Given the description of an element on the screen output the (x, y) to click on. 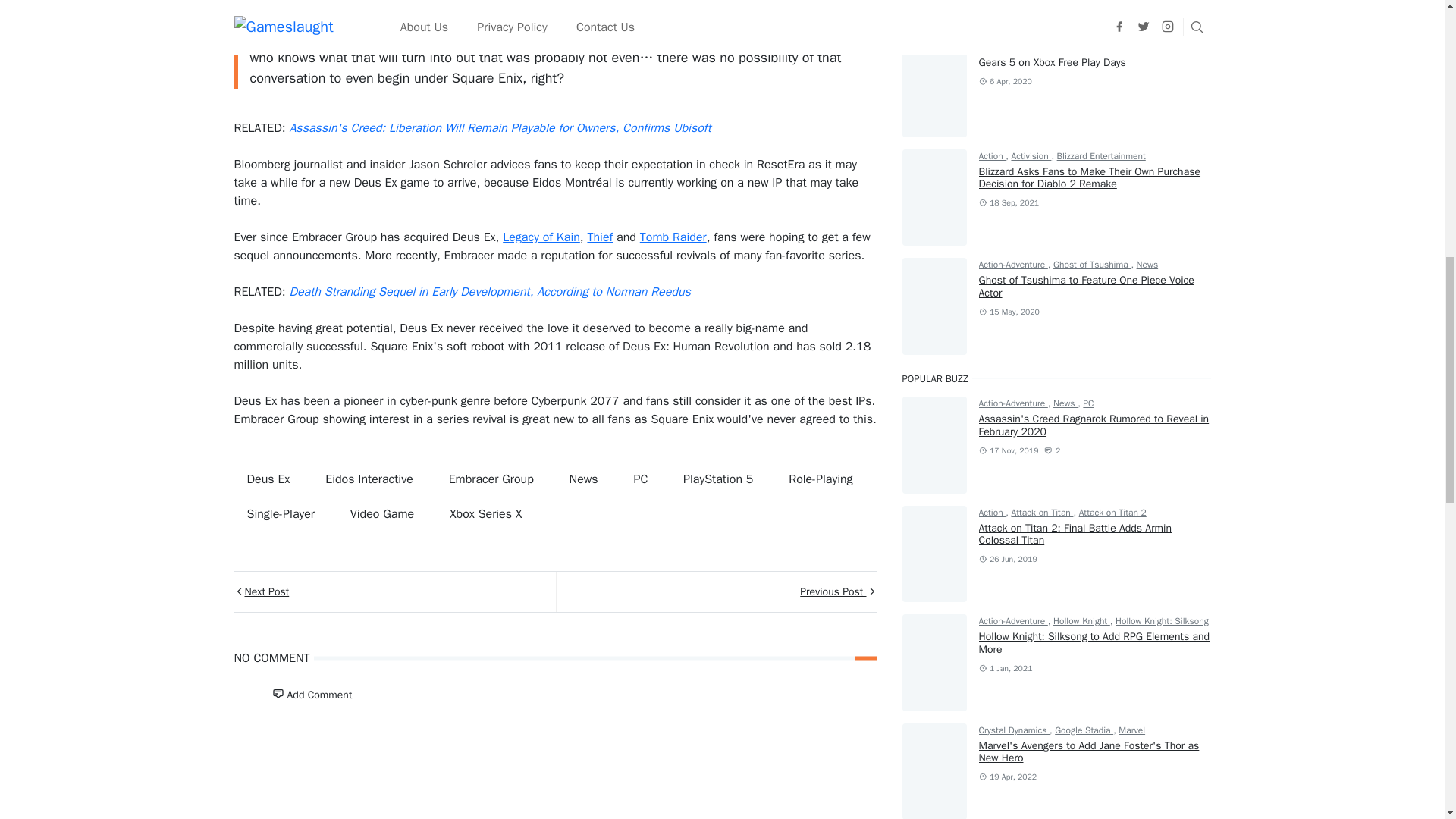
Embracer Group (491, 479)
Tomb Raider (673, 237)
News (583, 479)
Legacy of Kain (540, 237)
PC (640, 479)
Eidos Interactive (369, 479)
Deus Ex (267, 479)
Thief (599, 237)
